Given the description of an element on the screen output the (x, y) to click on. 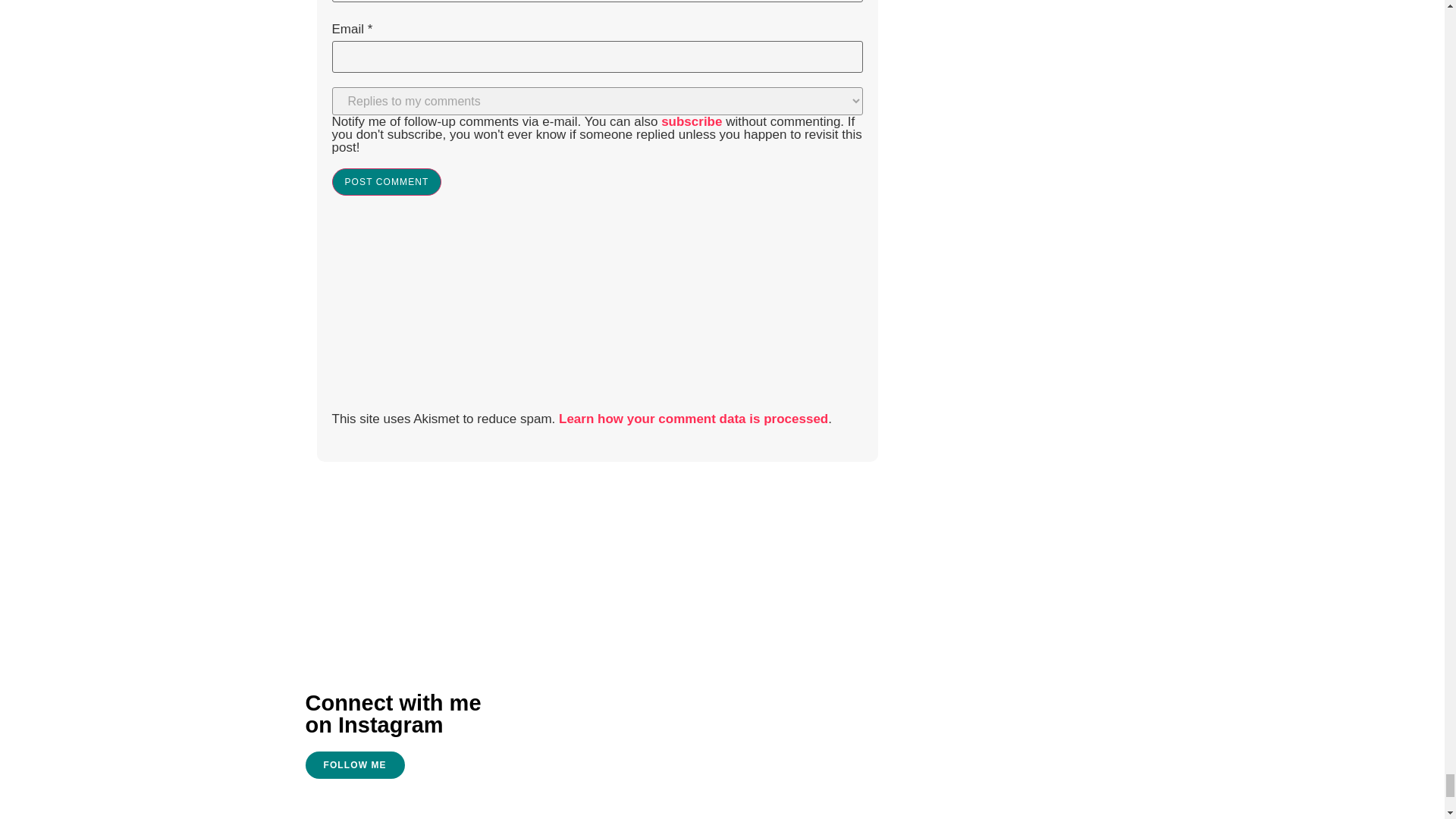
couple-at-trocadero-eiffel-tower-photo-spot (808, 726)
laguna-kaan-luum-heart (1046, 671)
Post Comment (386, 181)
bluebonnet-sunrise-texas (592, 728)
